Given the description of an element on the screen output the (x, y) to click on. 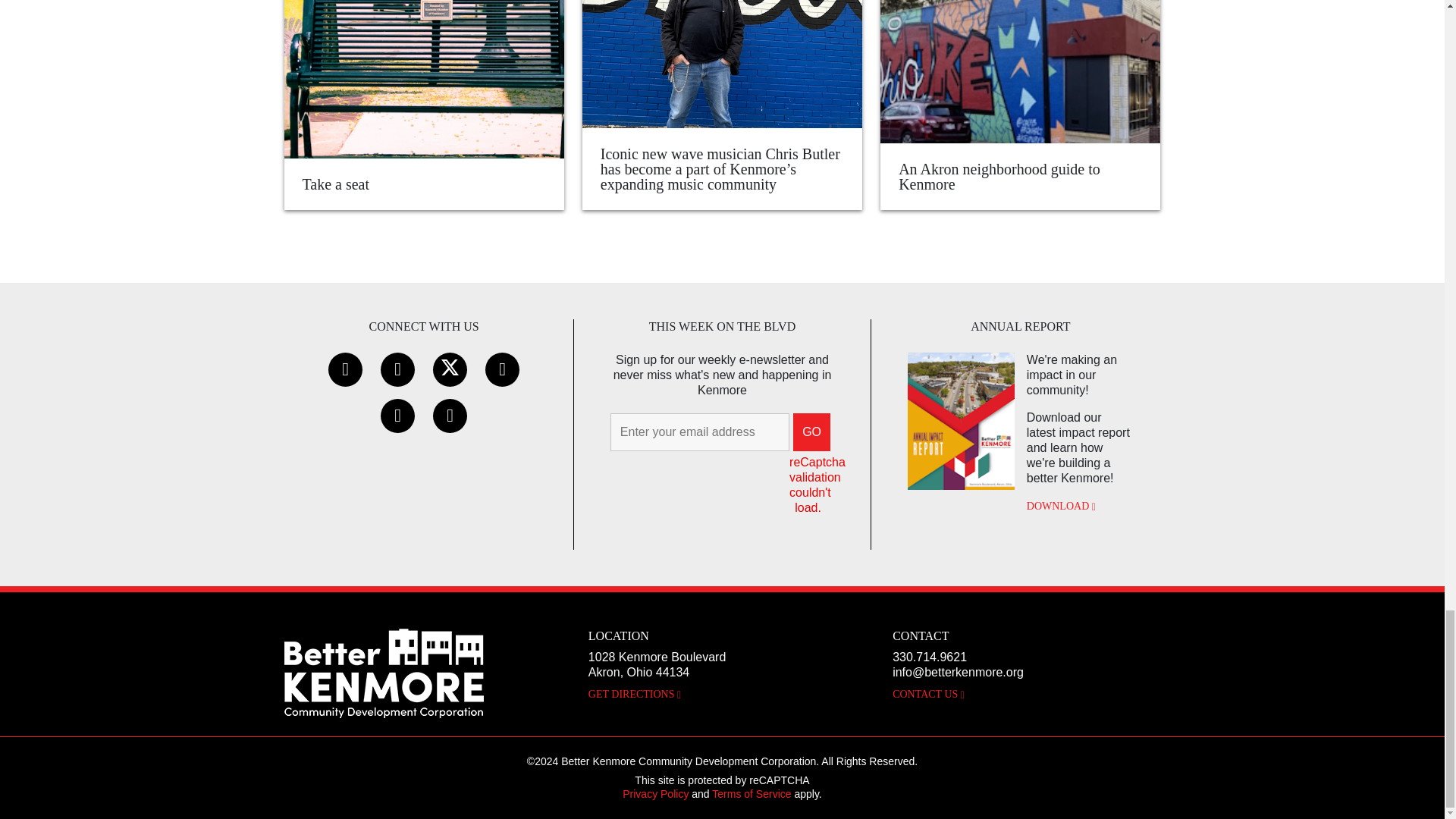
GO (811, 432)
